Given the description of an element on the screen output the (x, y) to click on. 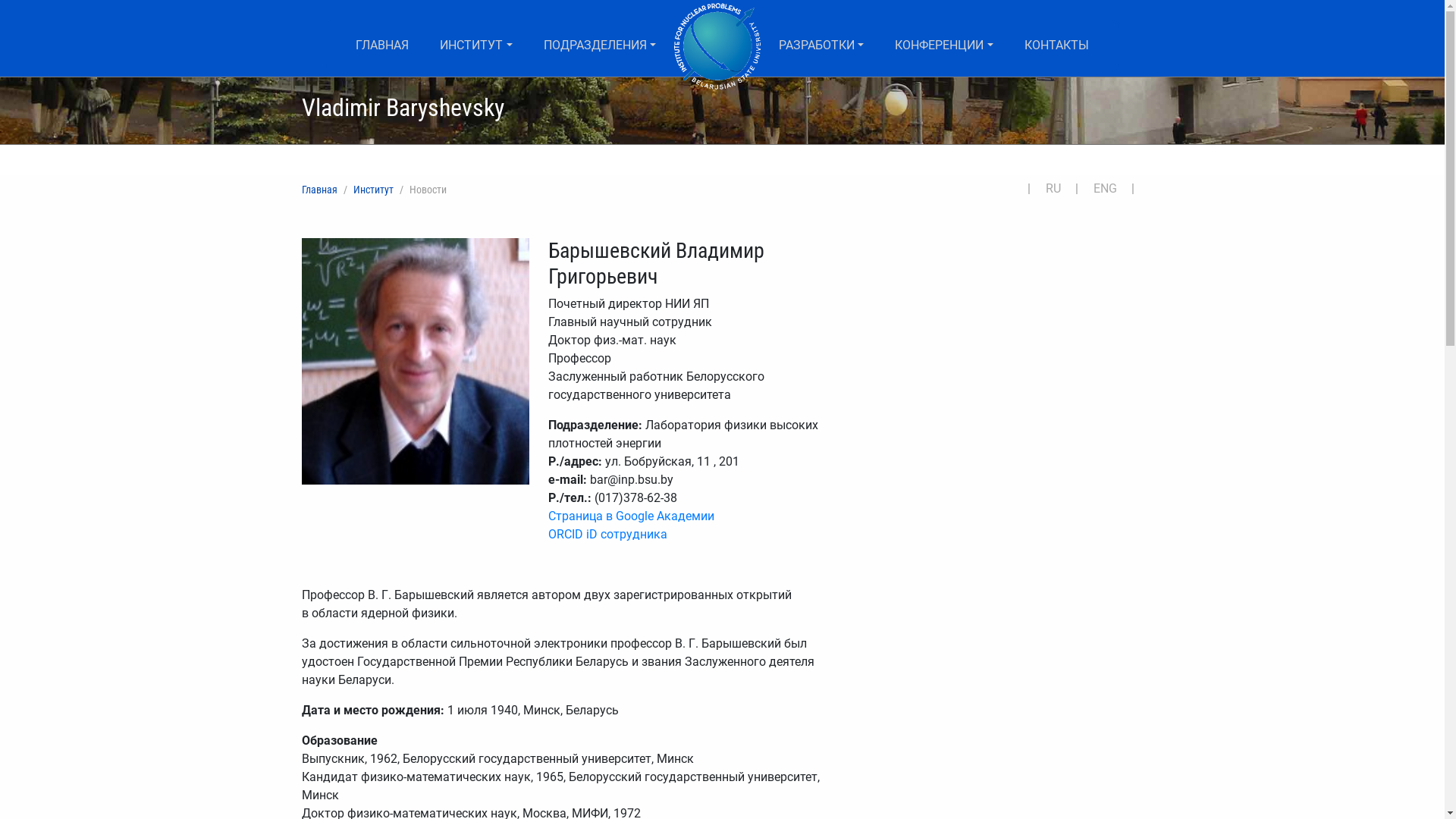
ENG Element type: text (1110, 188)
RU Element type: text (1057, 188)
